Given the description of an element on the screen output the (x, y) to click on. 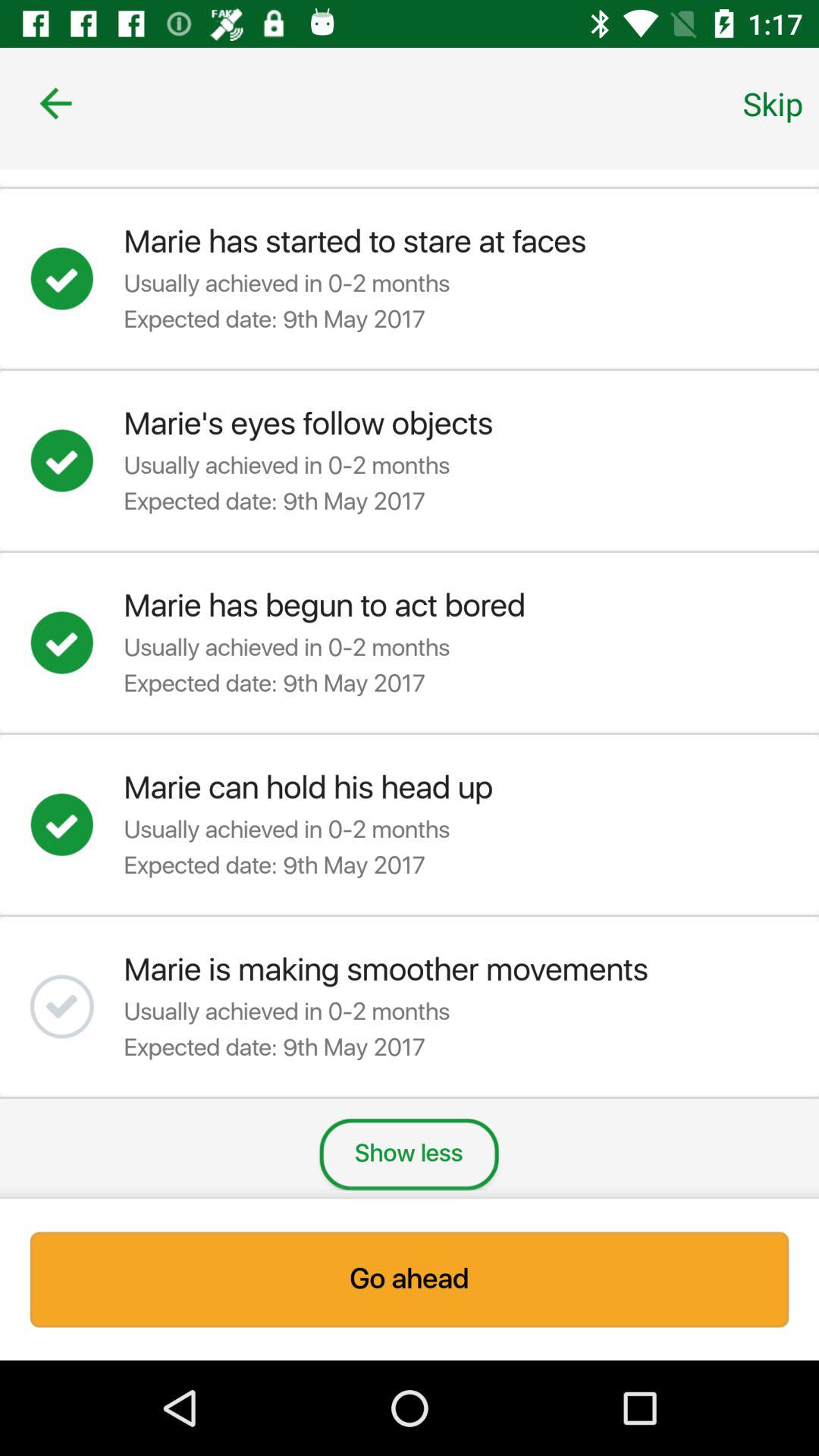
developmental stage tracker (76, 1006)
